Given the description of an element on the screen output the (x, y) to click on. 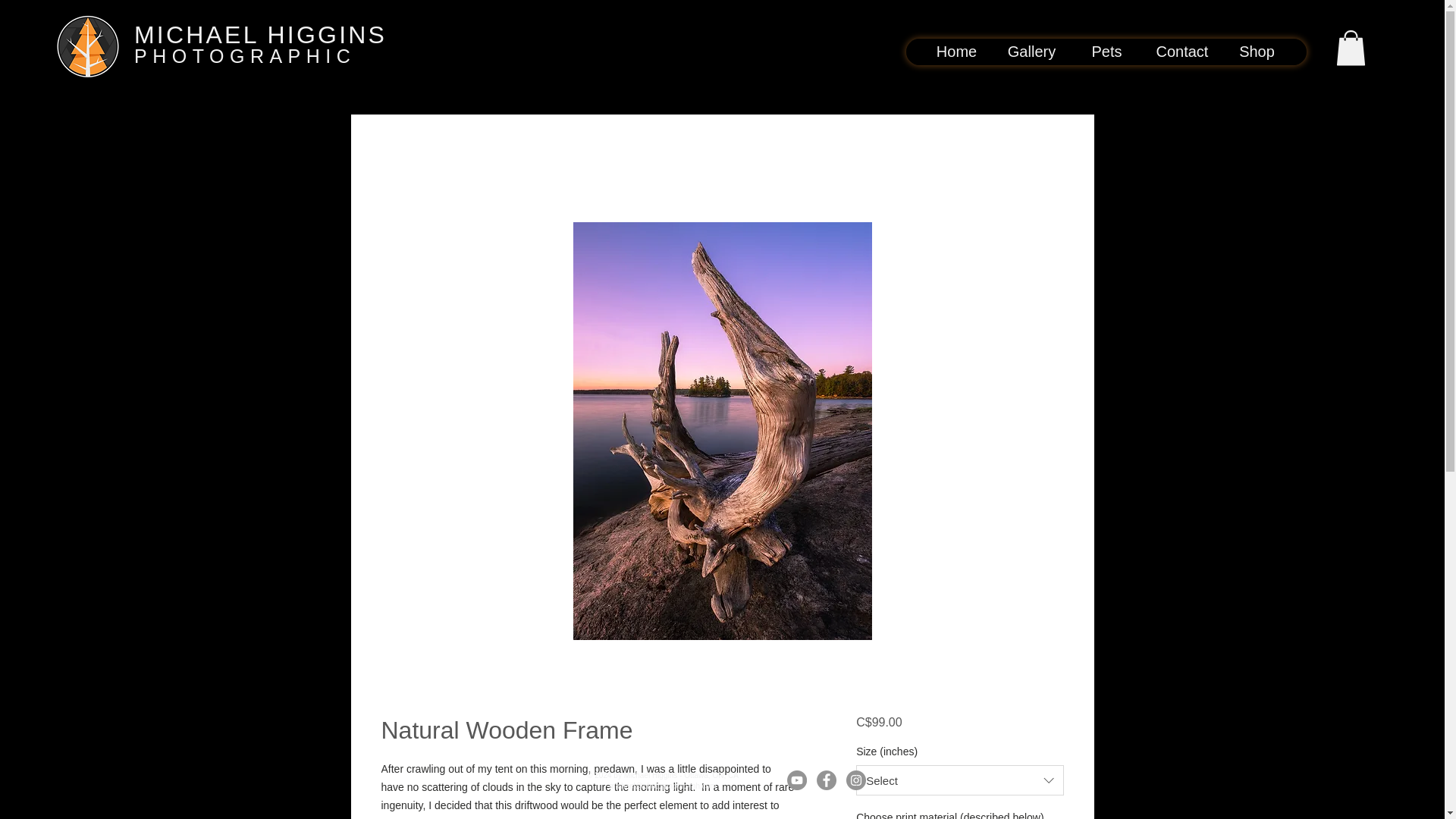
MICHAEL HIGGINS (260, 34)
Shop (1257, 51)
Select (959, 779)
Home (956, 51)
Gallery (1030, 51)
Pets (1106, 51)
Contact (1180, 51)
500x500 letterless new colour.png (87, 46)
PHOTOGRAPHIC (244, 55)
